Given the description of an element on the screen output the (x, y) to click on. 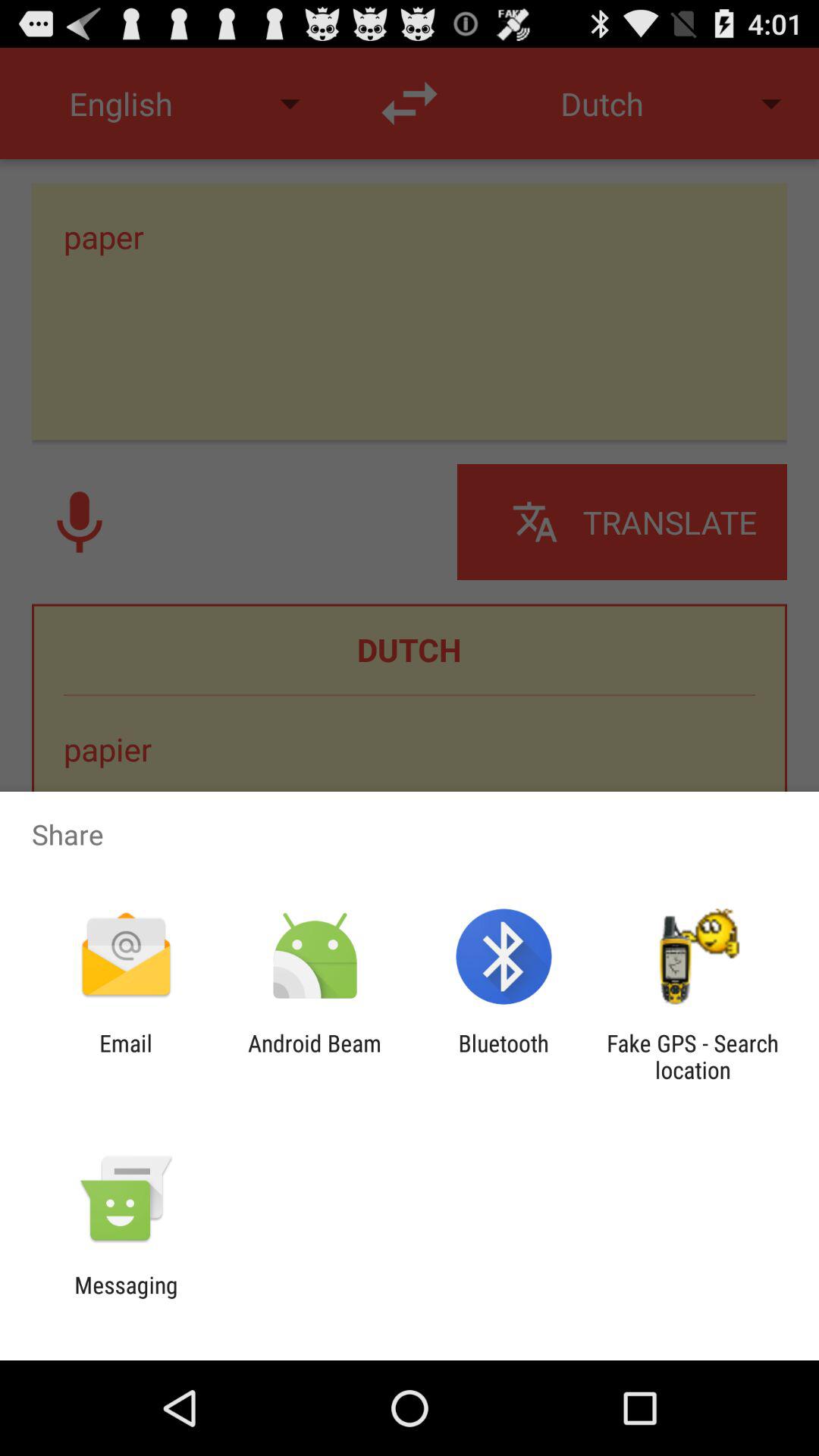
select the app to the left of fake gps search item (503, 1056)
